Given the description of an element on the screen output the (x, y) to click on. 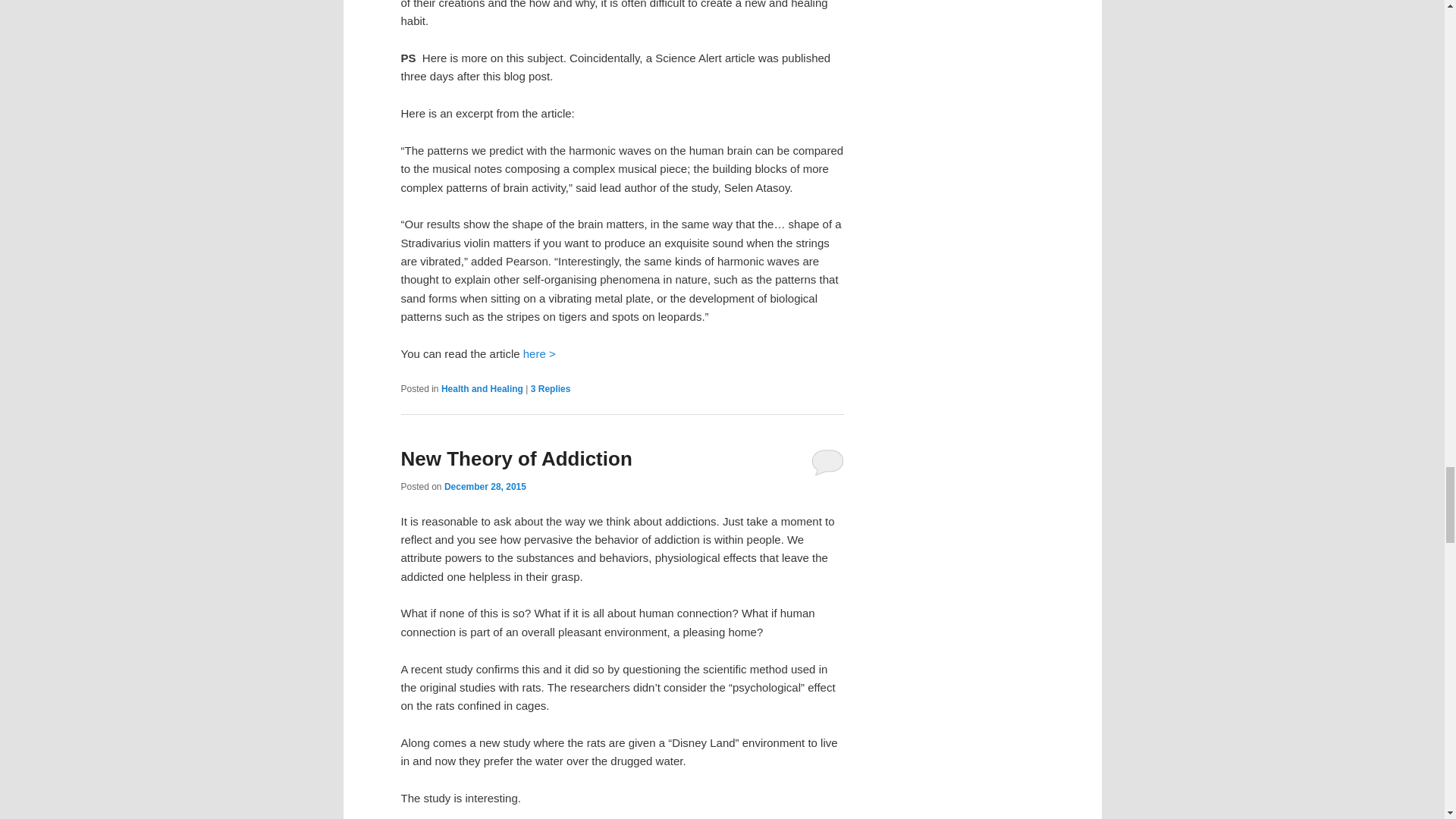
8:51 pm (484, 486)
